Given the description of an element on the screen output the (x, y) to click on. 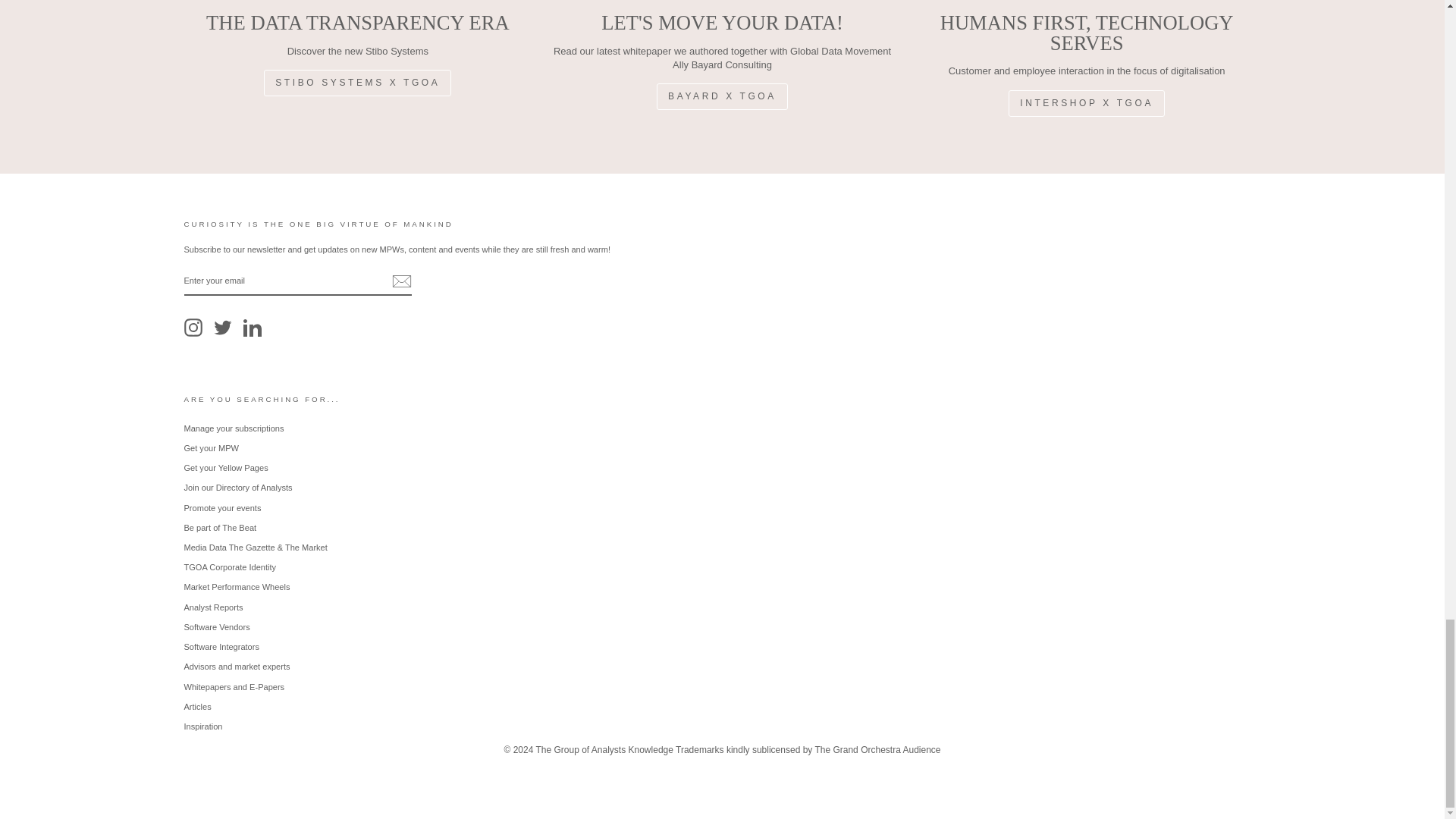
The Group of Analysts on Twitter (222, 327)
The Group of Analysts on LinkedIn (251, 327)
The Group of Analysts on Instagram (192, 327)
